Given the description of an element on the screen output the (x, y) to click on. 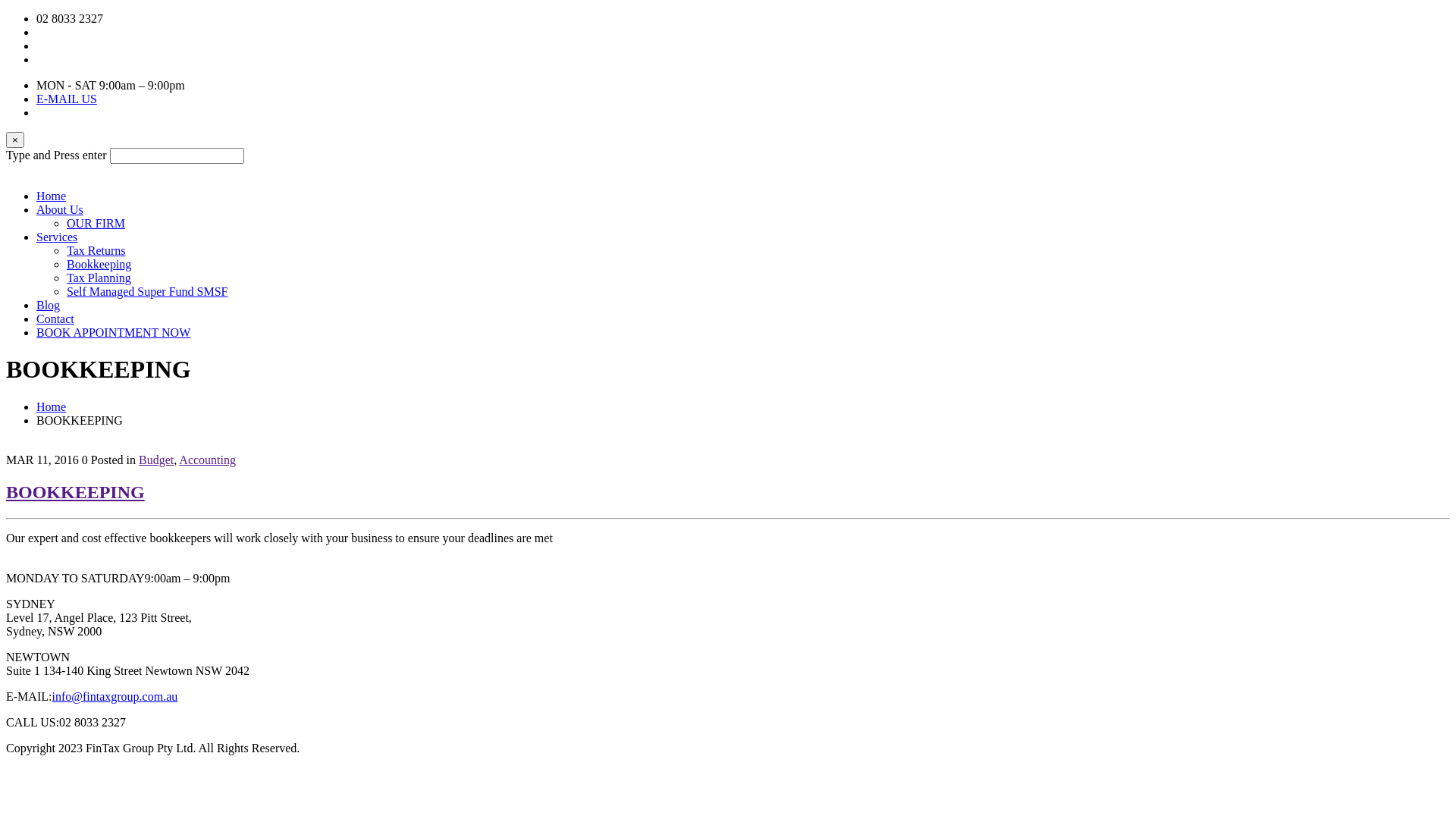
Tax Returns Element type: text (95, 250)
Budget Element type: text (155, 459)
E-MAIL US Element type: text (66, 98)
info@fintaxgroup.com.au Element type: text (114, 696)
Contact Element type: text (55, 318)
Home Element type: text (50, 195)
Home Element type: text (50, 406)
Bookkeeping Element type: text (98, 263)
OUR FIRM Element type: text (95, 222)
About Us Element type: text (59, 209)
Self Managed Super Fund SMSF Element type: text (146, 291)
Services Element type: text (56, 236)
Tax Planning Element type: text (98, 277)
Accounting Element type: text (206, 459)
BOOK APPOINTMENT NOW Element type: text (113, 332)
Blog Element type: text (47, 304)
BOOKKEEPING Element type: text (75, 492)
